Given the description of an element on the screen output the (x, y) to click on. 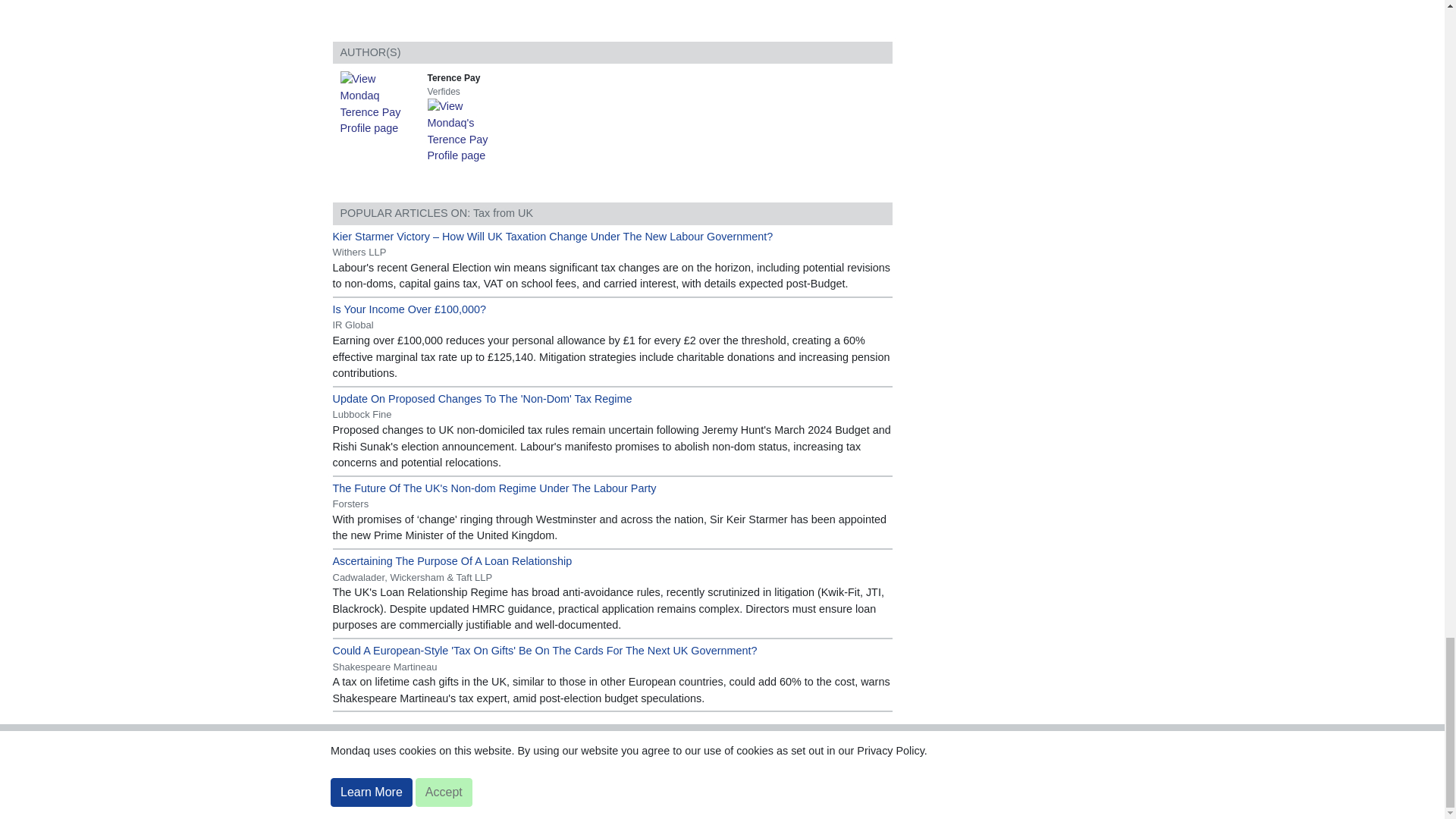
More from Terence  Pay (469, 130)
Mondaq Privacy Statement, Guarding your Data (876, 738)
